Given the description of an element on the screen output the (x, y) to click on. 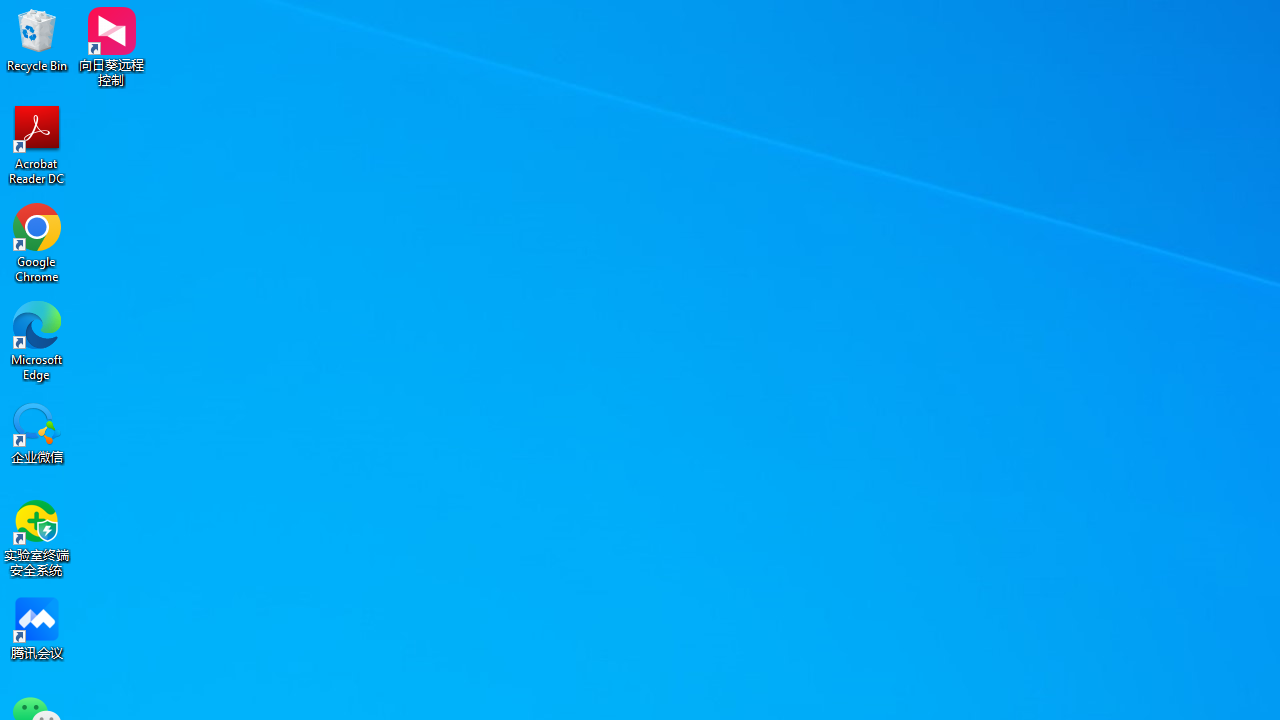
Section (254, 126)
Font... (588, 151)
